Given the description of an element on the screen output the (x, y) to click on. 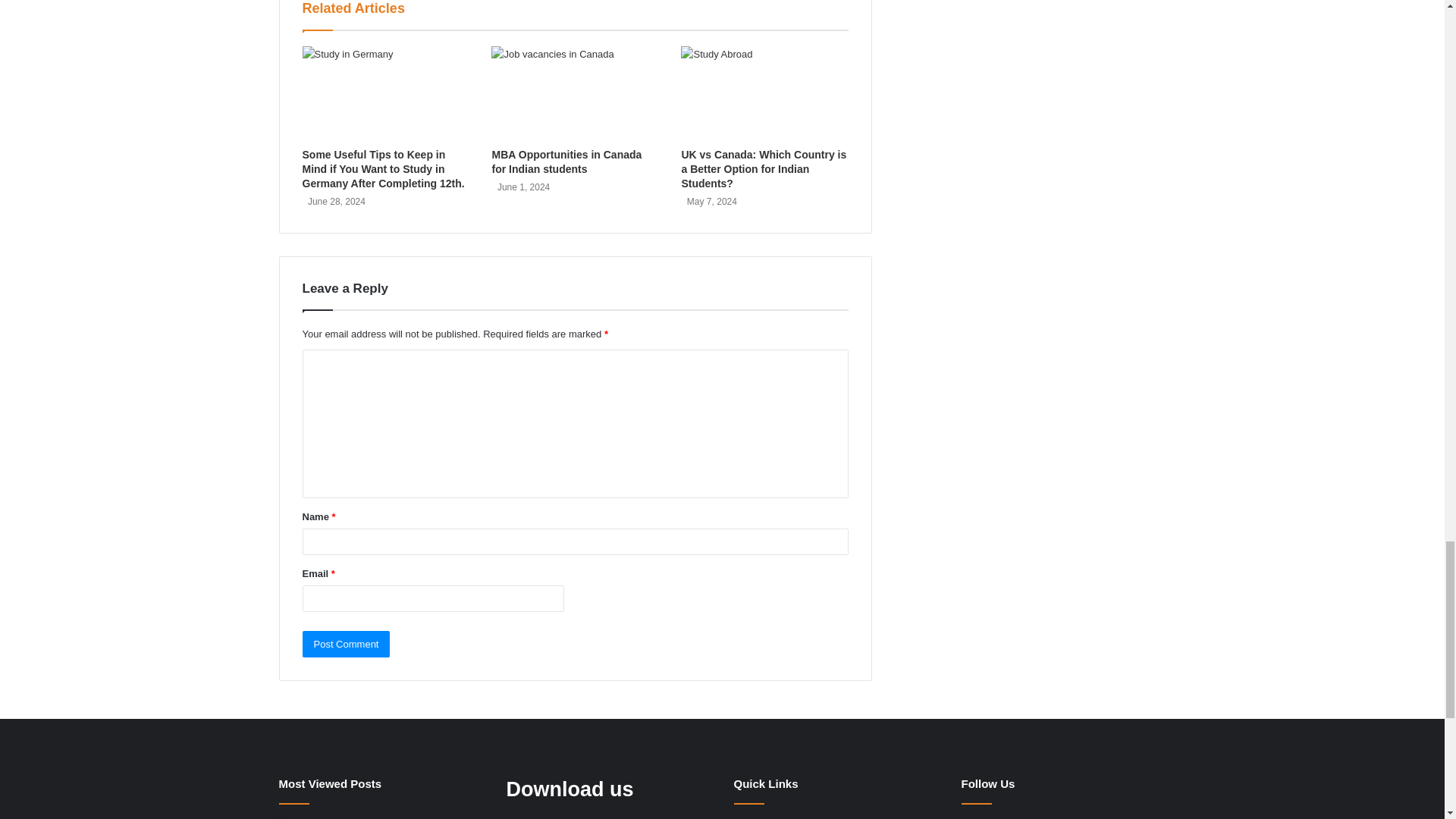
Post Comment (345, 643)
